Given the description of an element on the screen output the (x, y) to click on. 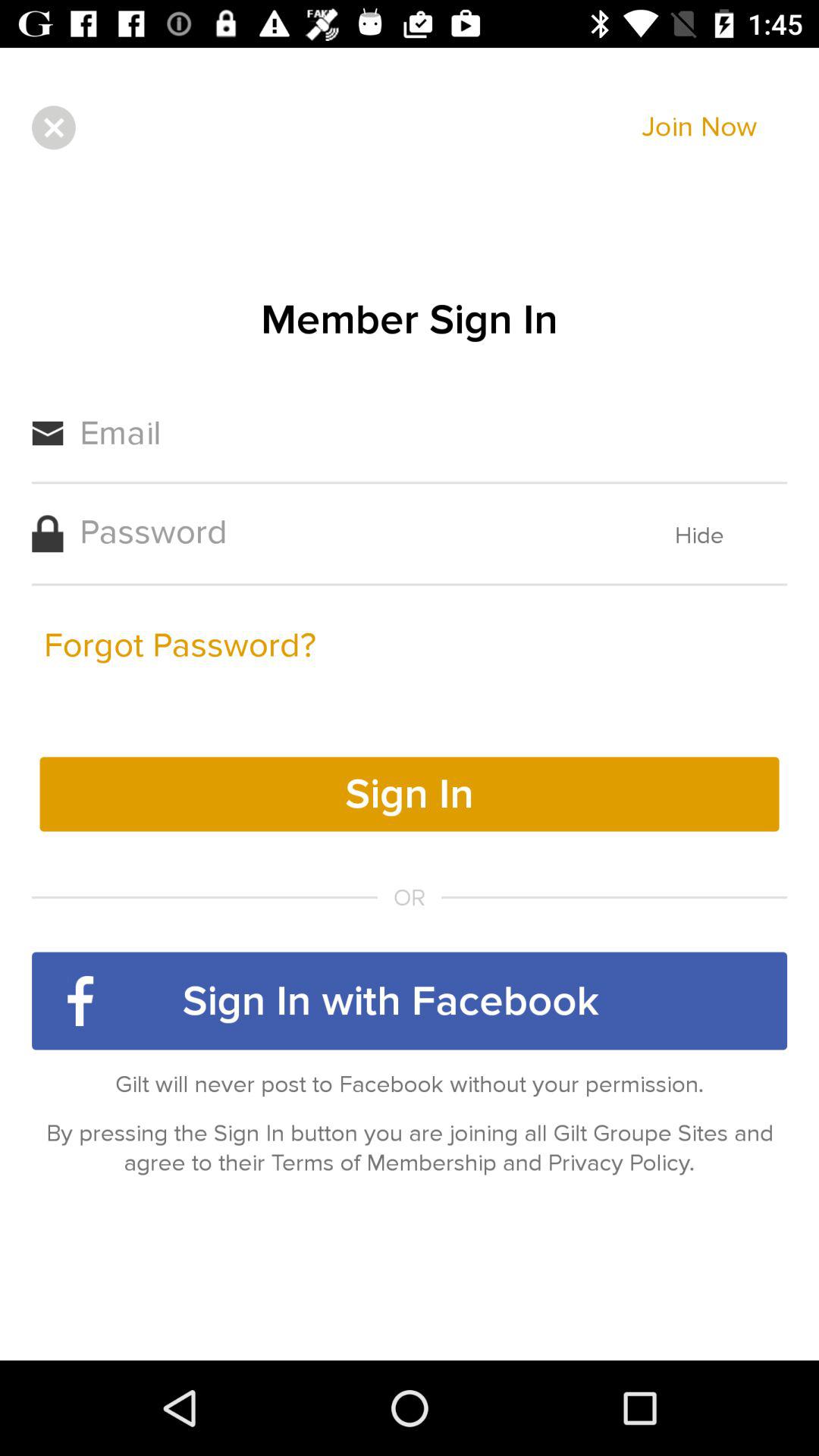
jump until hide item (699, 535)
